Given the description of an element on the screen output the (x, y) to click on. 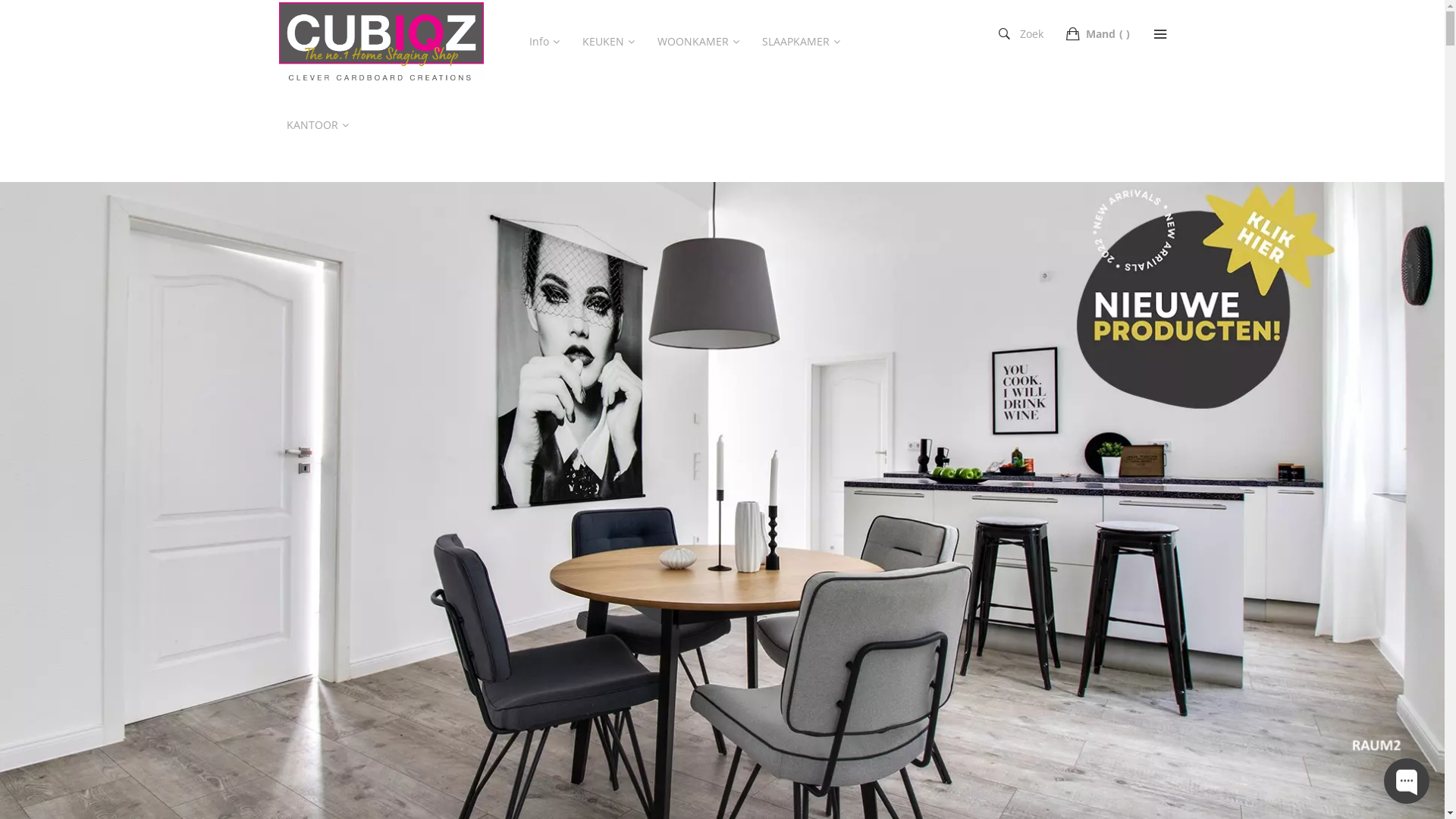
SLAAPKAMER Element type: text (803, 41)
Cubiqz  Element type: hover (381, 41)
KEUKEN Element type: text (611, 41)
WOONKAMER Element type: text (701, 41)
Info Element type: text (551, 41)
Cubiqz  Element type: hover (381, 41)
Mand ( ) Element type: text (1098, 34)
KANTOOR Element type: text (321, 124)
